Given the description of an element on the screen output the (x, y) to click on. 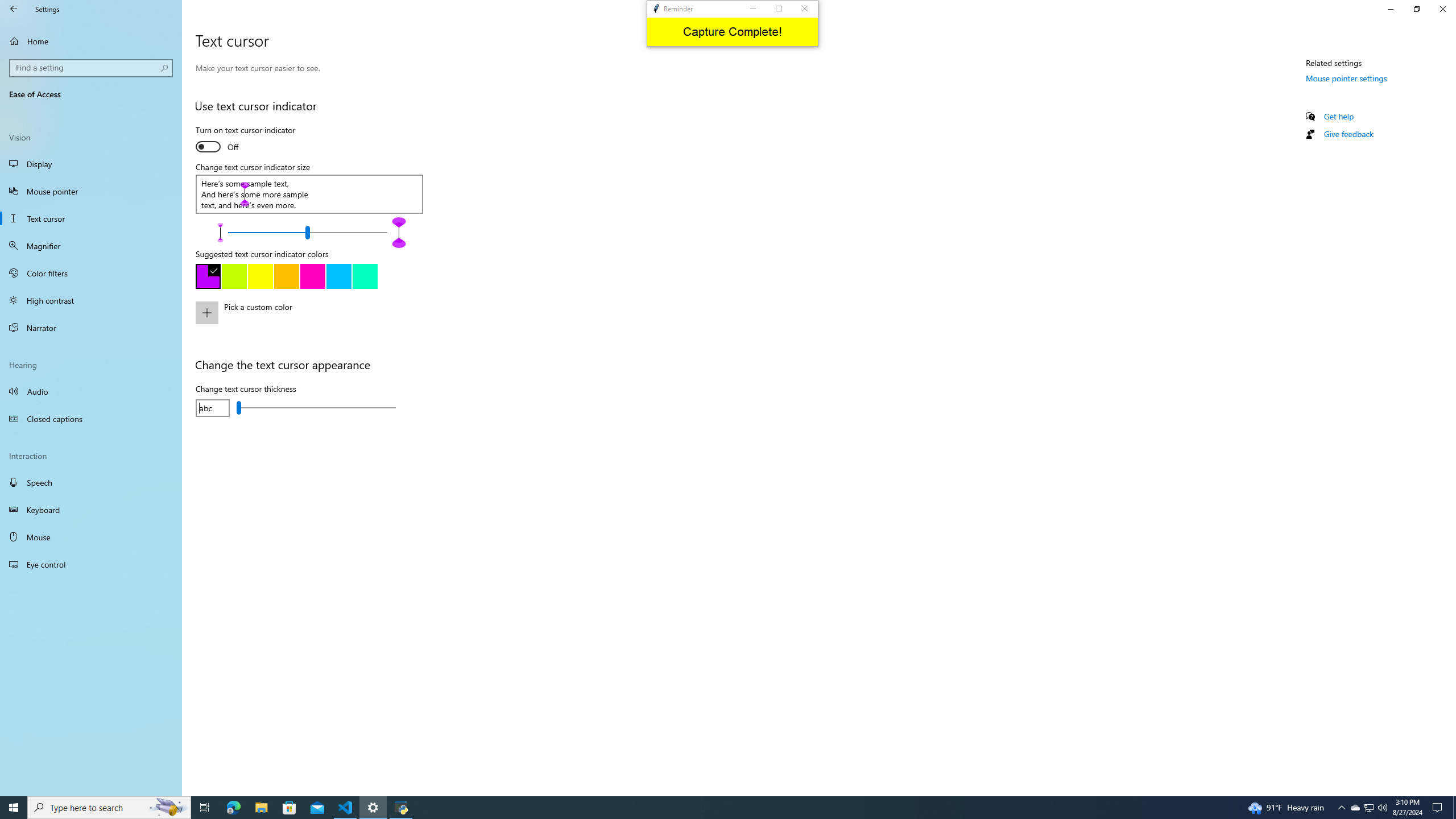
User Promoted Notification Area (1368, 807)
Back (13, 9)
Restore Settings (1416, 9)
Action Center, No new notifications (1439, 807)
High contrast (91, 299)
Closed captions (91, 418)
Settings - 1 running window (373, 807)
Turn on text cursor indicator (245, 139)
